Given the description of an element on the screen output the (x, y) to click on. 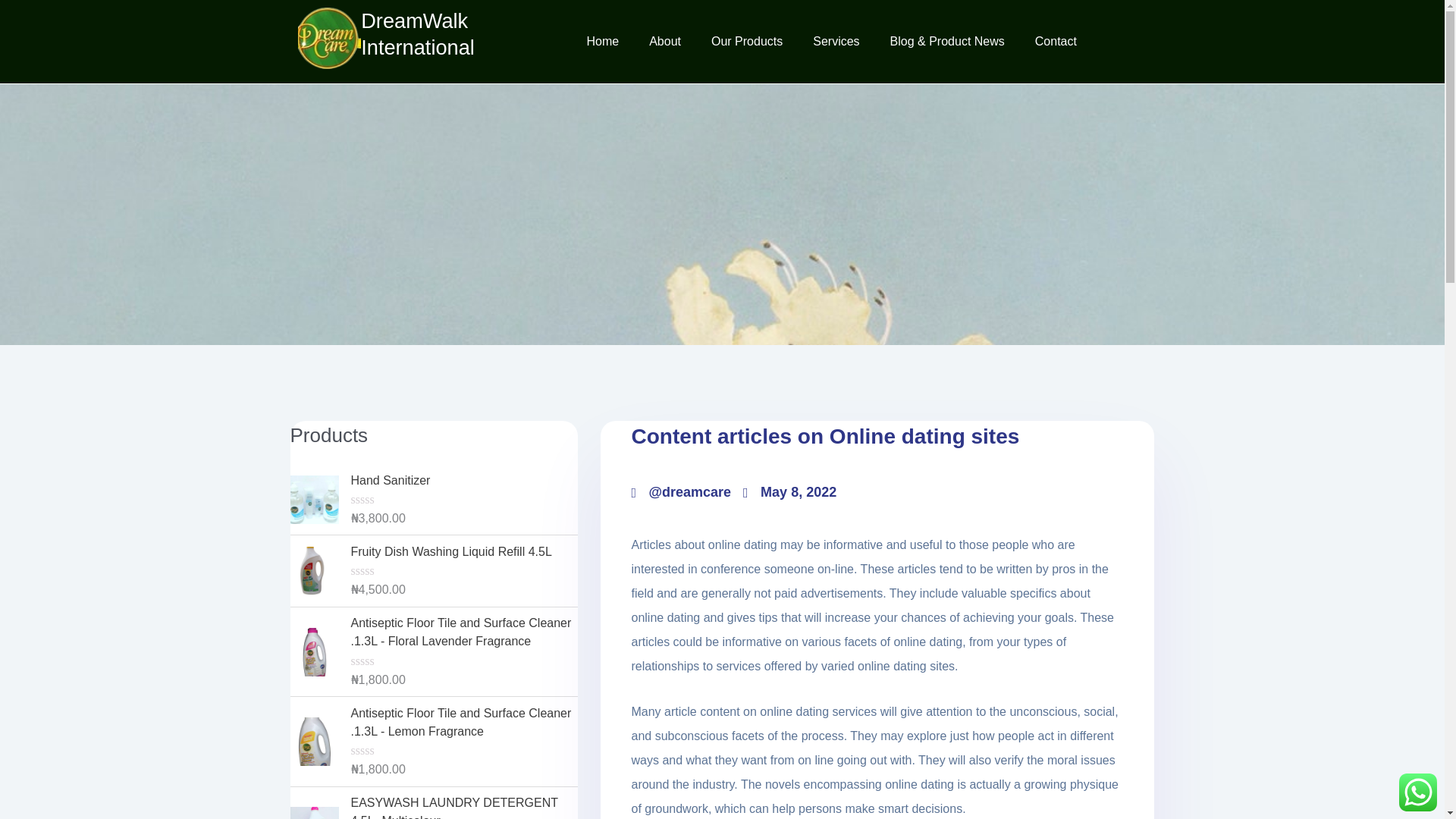
About (664, 41)
May 8, 2022 (860, 492)
EASYWASH LAUNDRY DETERGENT 4.5L- Multicolour. (419, 806)
Services (836, 41)
Our Products (746, 41)
Fruity Dish Washing Liquid Refill 4.5L (401, 551)
Hand Sanitizer (397, 480)
Home (601, 41)
DreamWalk International (417, 33)
Contact (1056, 41)
